Given the description of an element on the screen output the (x, y) to click on. 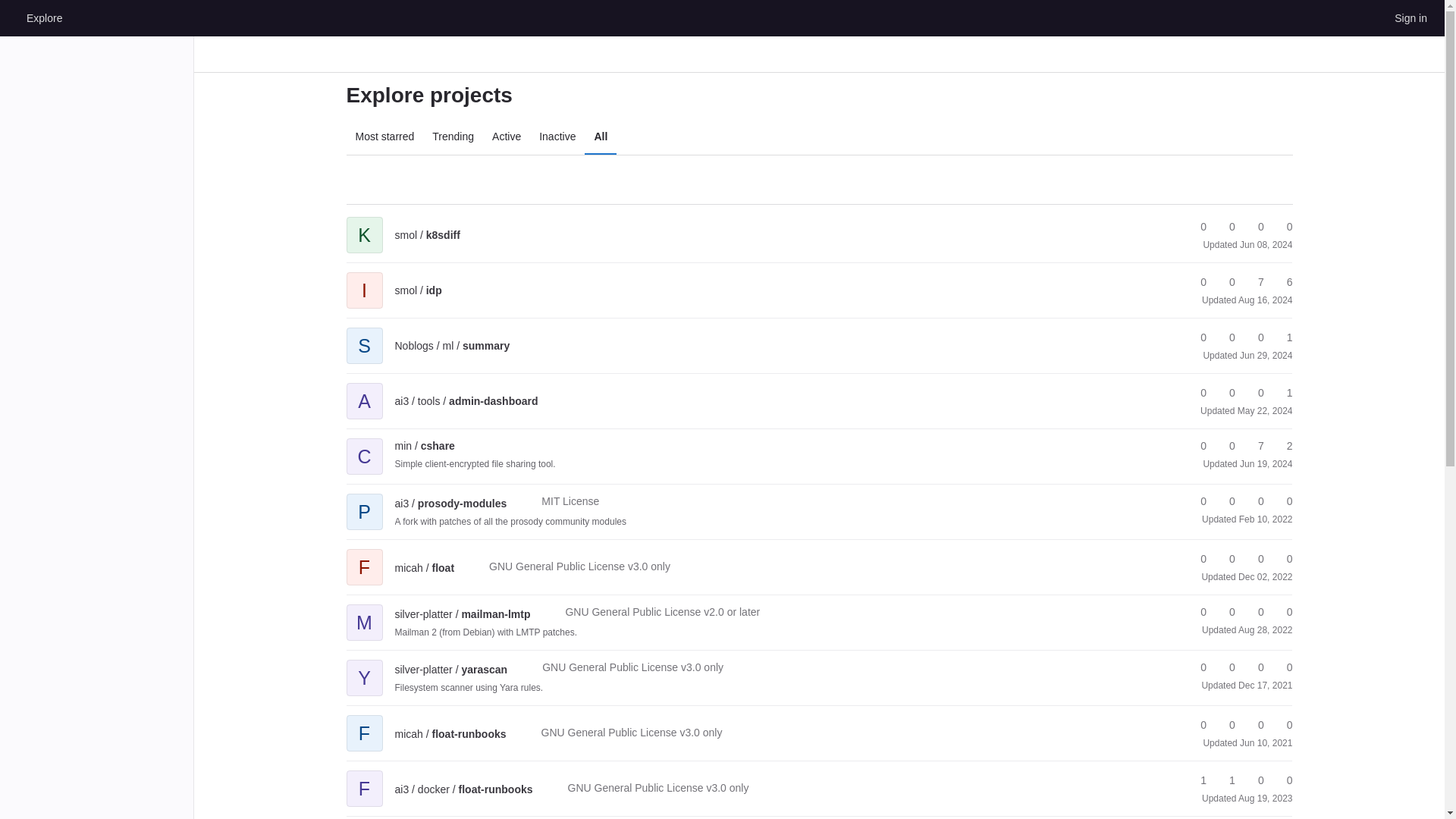
0 (1196, 337)
0 (1196, 282)
k8sdiff (427, 234)
0 (1253, 392)
I (363, 279)
Issues (1282, 227)
0 (1282, 227)
Explore (44, 17)
7 (1253, 282)
Jun 8, 2024 11:10am (1266, 244)
